Given the description of an element on the screen output the (x, y) to click on. 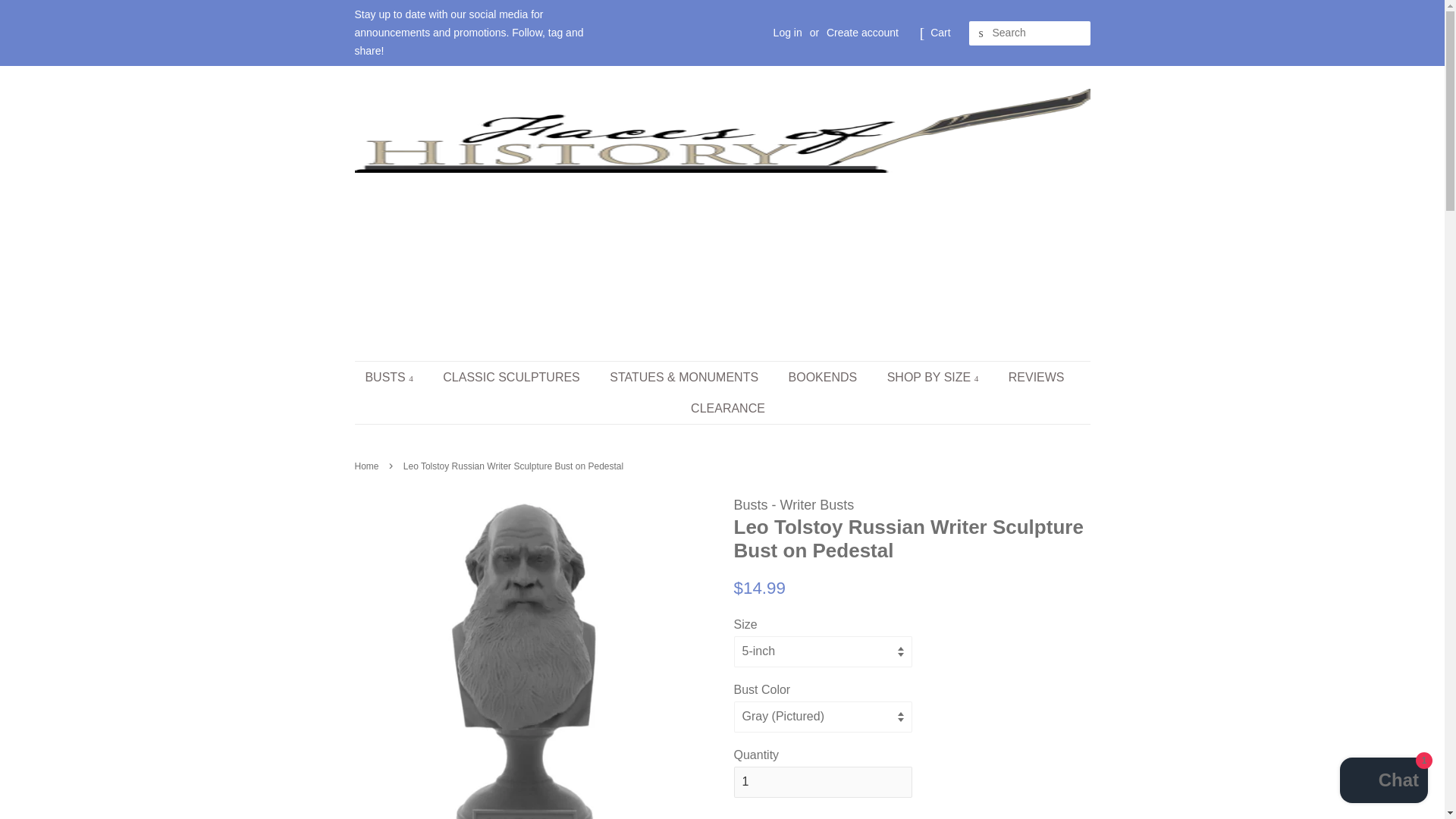
1 (822, 781)
Cart (940, 33)
BUSTS (396, 377)
Log in (787, 32)
SEARCH (980, 33)
Back to the frontpage (368, 466)
Shopify online store chat (1383, 781)
Create account (862, 32)
